Given the description of an element on the screen output the (x, y) to click on. 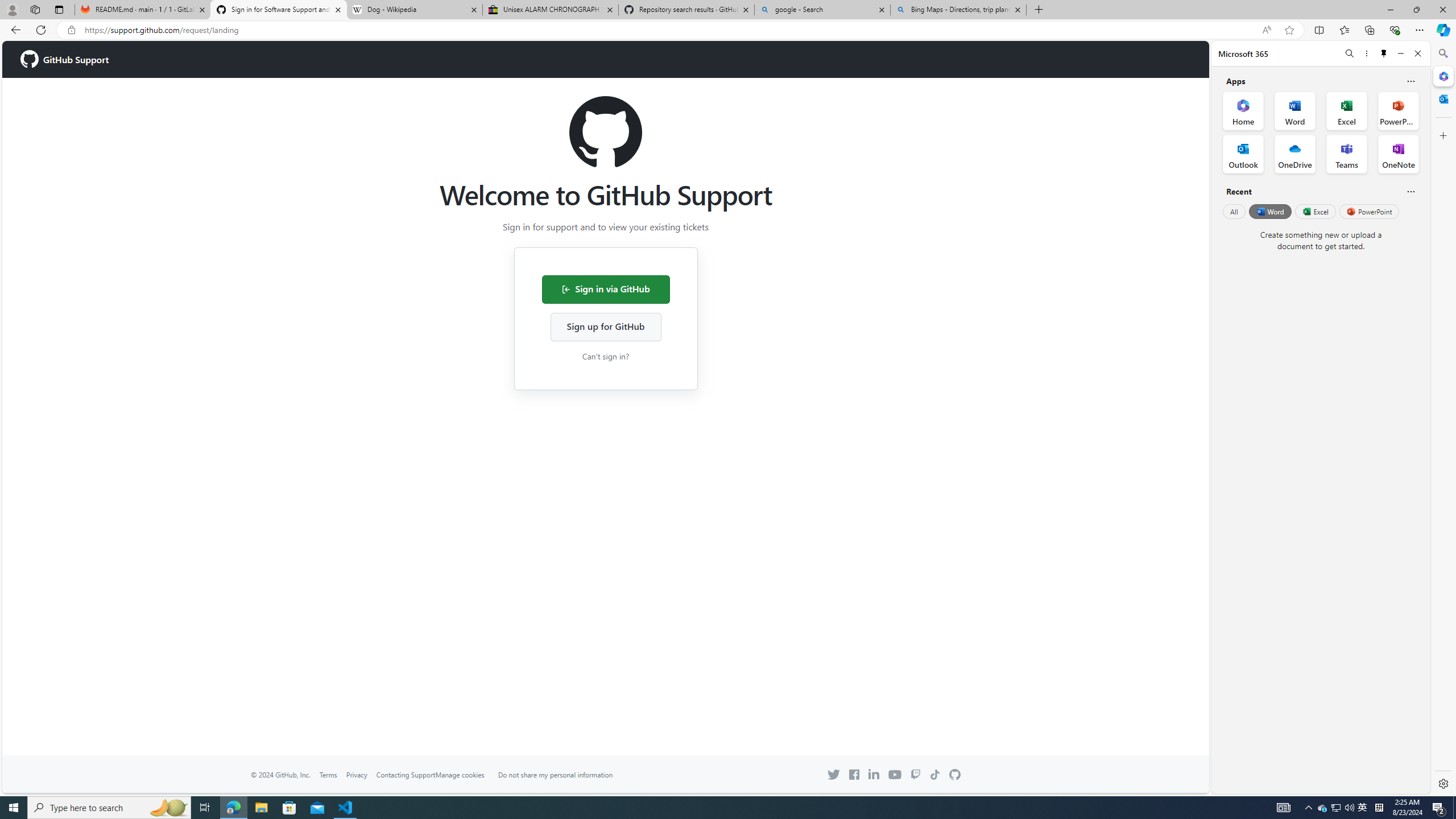
Twitch icon GitHub on Twitch (915, 774)
Facebook icon (853, 774)
Linkedin icon (873, 773)
Terms (327, 774)
GitHub mark Back to GitHub.com (954, 774)
